Given the description of an element on the screen output the (x, y) to click on. 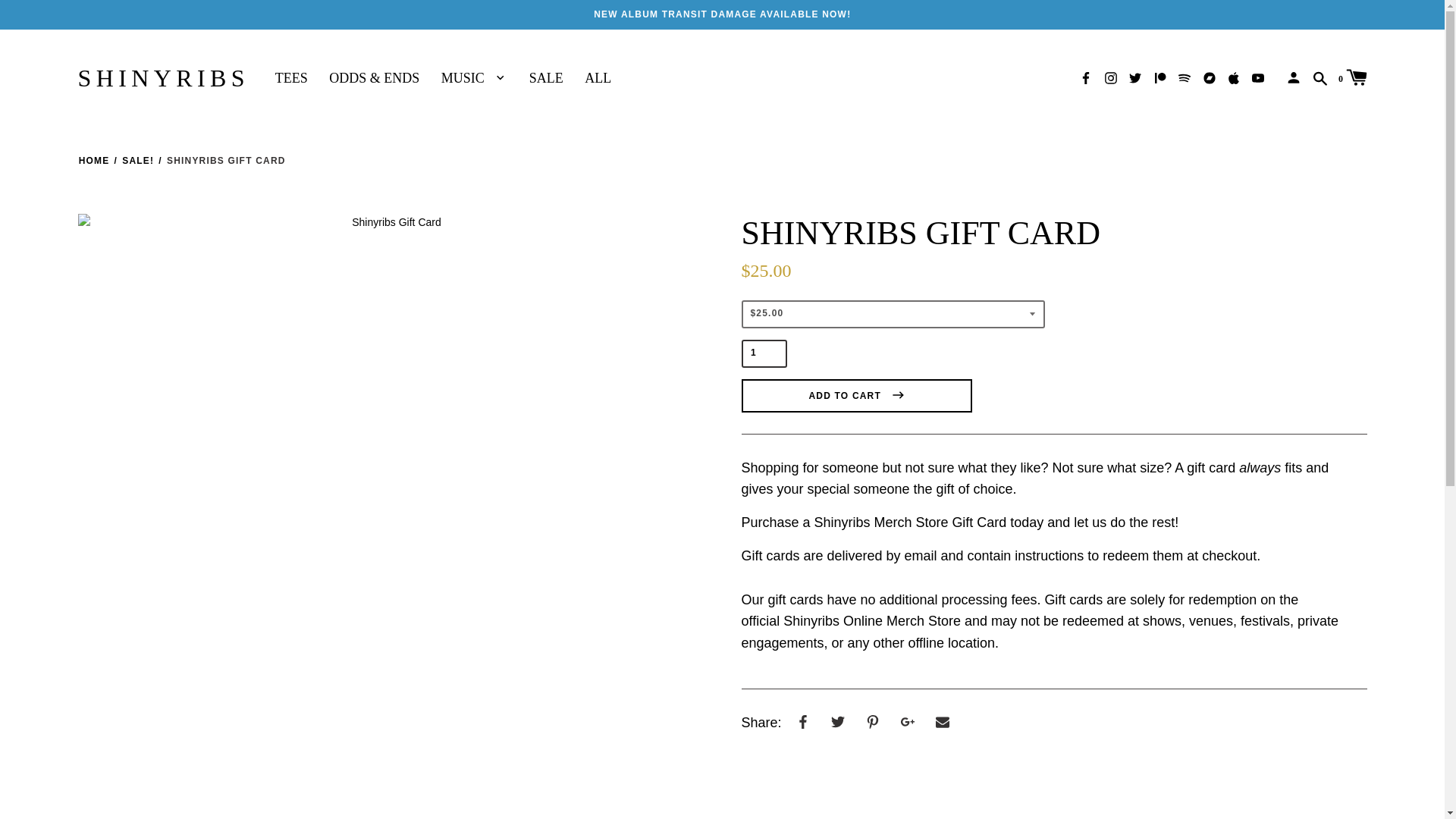
TEES (294, 78)
Shinyribs on Twitter (1135, 76)
MUSIC (477, 78)
1 (764, 353)
Back to the frontpage (93, 160)
0 (1352, 76)
Shinyribs on Patreon (1160, 76)
SALE (549, 78)
Shinyribs on Instagram (1110, 76)
ALL (601, 78)
Shinyribs on Facebook (1086, 76)
Shinyribs on YouTube (1257, 76)
SHINYRIBS (162, 78)
Shinyribs on Spotify (1184, 76)
Shinyribs on Apple (1233, 76)
